Given the description of an element on the screen output the (x, y) to click on. 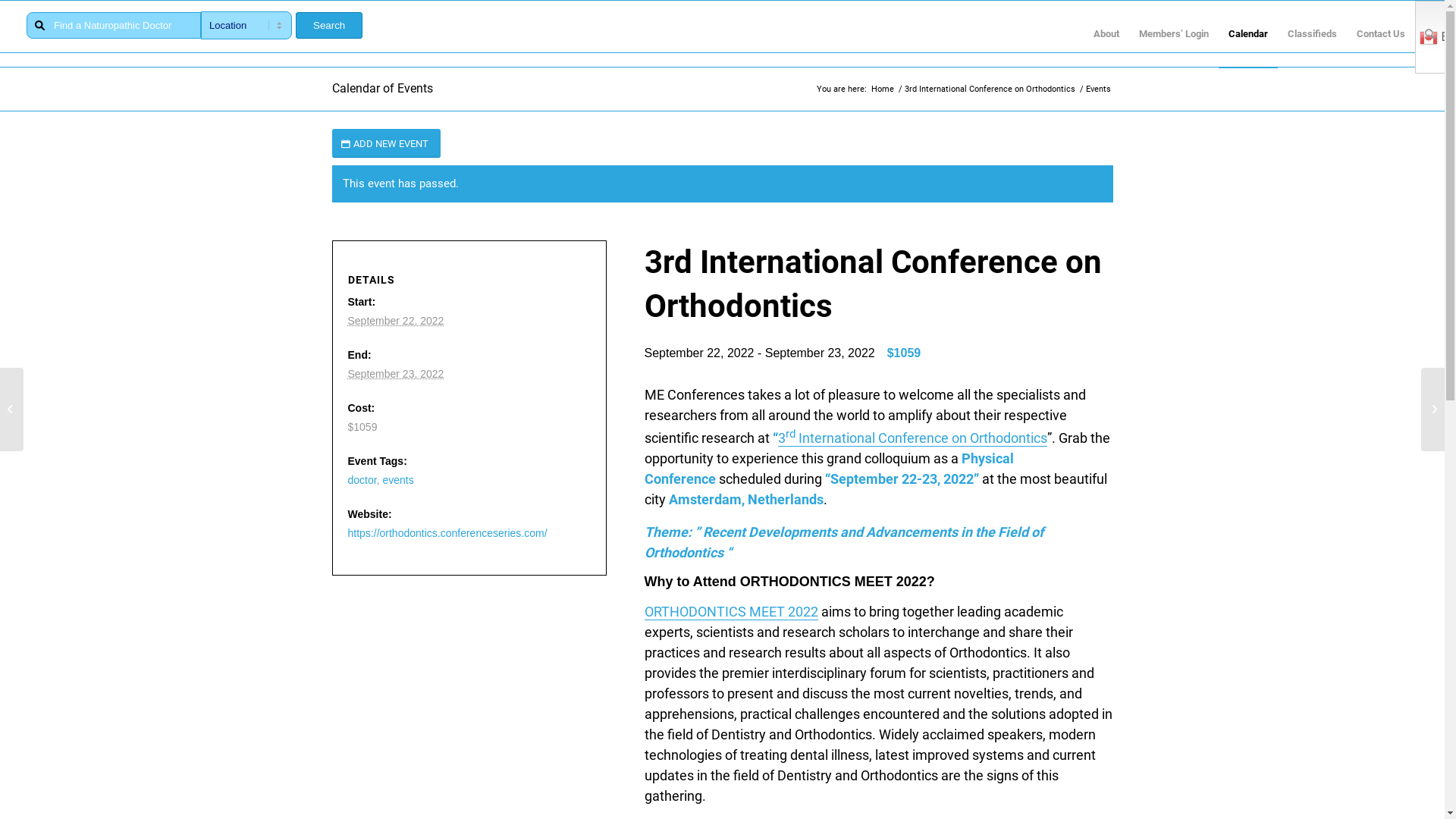
Classifieds Element type: text (1311, 33)
About Element type: text (1106, 33)
doctor Element type: text (361, 479)
ORTHODONTICS MEET 2022 Element type: text (731, 611)
Events Element type: text (1097, 88)
https://orthodontics.conferenceseries.com/ Element type: text (446, 533)
3rd International Conference on Orthodontics Element type: text (912, 437)
Home Element type: text (882, 88)
events Element type: text (397, 479)
ADD NEW EVENT Element type: text (386, 143)
Calendar Element type: text (1247, 33)
Contact Us Element type: text (1380, 33)
Search Element type: text (328, 25)
